Given the description of an element on the screen output the (x, y) to click on. 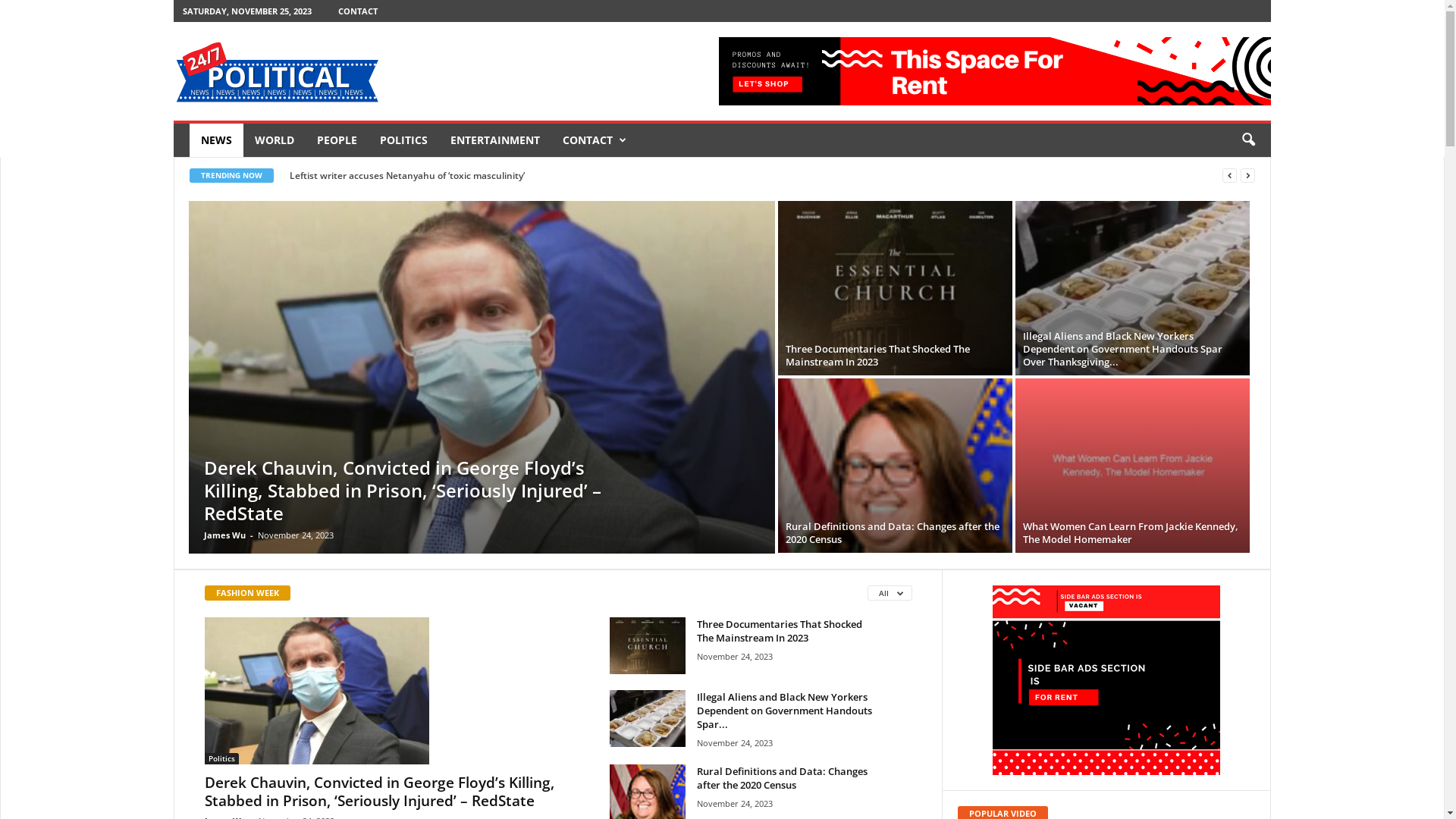
Three Documentaries That Shocked The Mainstream In 2023 Element type: hover (647, 645)
WORLD Element type: text (274, 139)
POLITICS Element type: text (403, 139)
NEWS Element type: text (216, 139)
CONTACT Element type: text (593, 139)
James Wu Element type: text (224, 534)
ENTERTAINMENT Element type: text (495, 139)
CONTACT Element type: text (357, 10)
Rural Definitions and Data: Changes after the 2020 Census Element type: text (892, 532)
Three Documentaries That Shocked The Mainstream In 2023 Element type: hover (895, 288)
Three Documentaries That Shocked The Mainstream In 2023 Element type: text (877, 355)
24/7 Political News Element type: text (276, 71)
Politics Element type: text (221, 758)
Rural Definitions and Data: Changes after the 2020 Census Element type: hover (895, 526)
Three Documentaries That Shocked The Mainstream In 2023 Element type: text (779, 630)
PEOPLE Element type: text (336, 139)
Rural Definitions and Data: Changes after the 2020 Census Element type: text (781, 777)
